Given the description of an element on the screen output the (x, y) to click on. 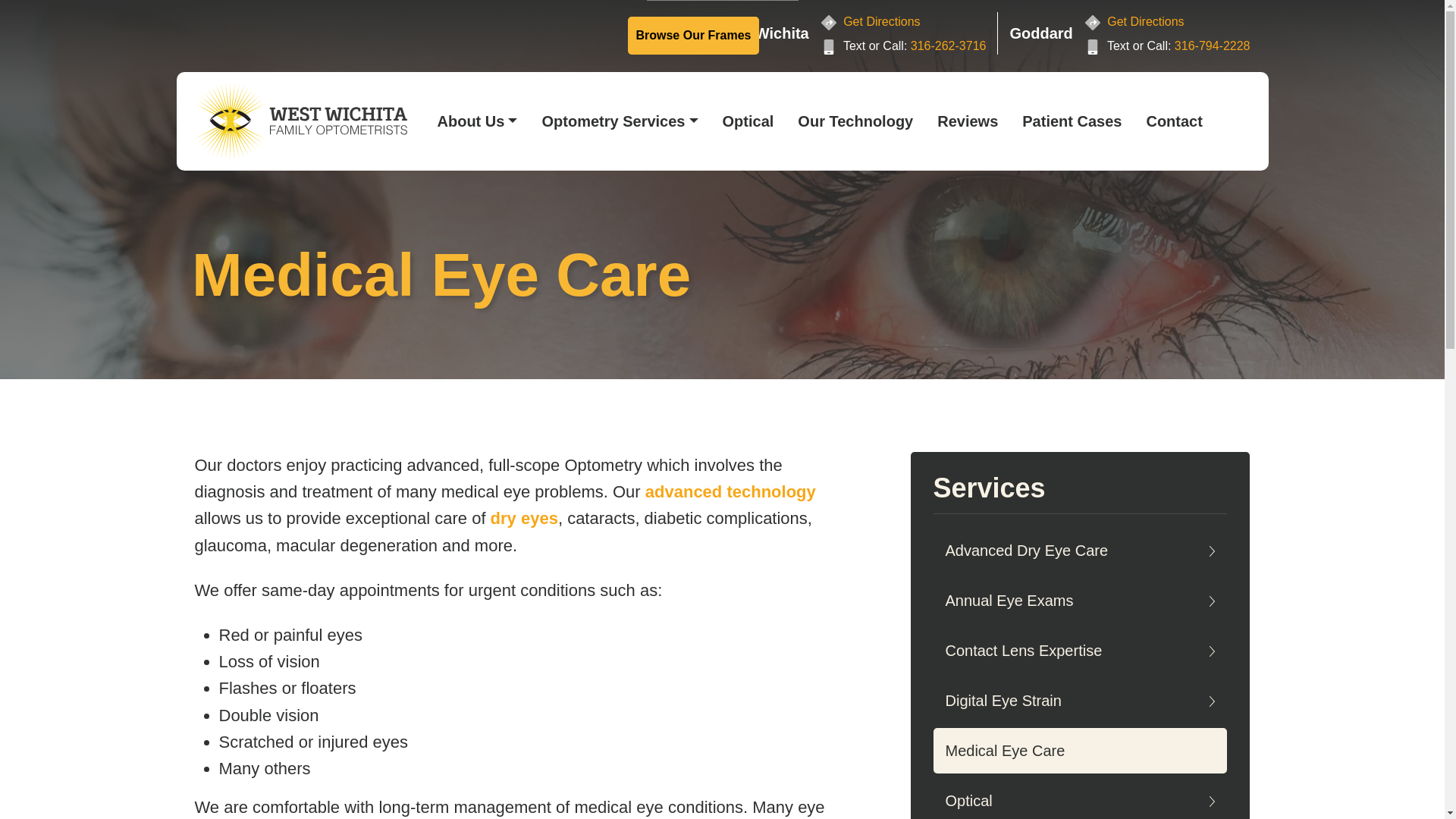
Reviews (967, 121)
Optometry Services (619, 121)
About Us (477, 121)
advanced technology (730, 491)
Patient Cases (1072, 121)
Optical (748, 121)
dry eyes (523, 517)
Contact Lens Expertise (1080, 650)
Our Technology (855, 121)
Annual Eye Exams (1080, 600)
